Given the description of an element on the screen output the (x, y) to click on. 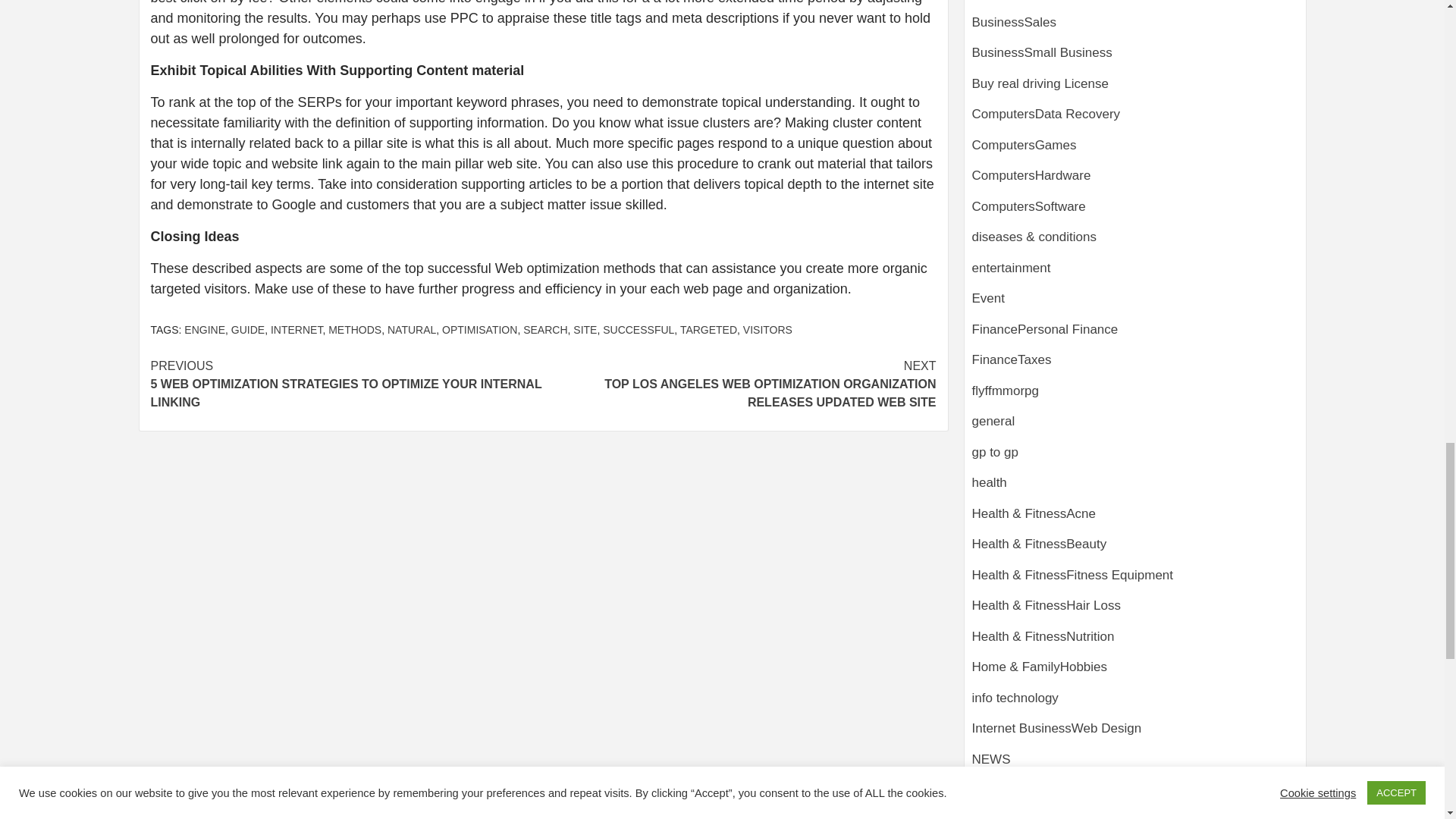
TARGETED (707, 329)
METHODS (355, 329)
SUCCESSFUL (638, 329)
ENGINE (204, 329)
VISITORS (767, 329)
INTERNET (295, 329)
NATURAL (411, 329)
SITE (584, 329)
